Given the description of an element on the screen output the (x, y) to click on. 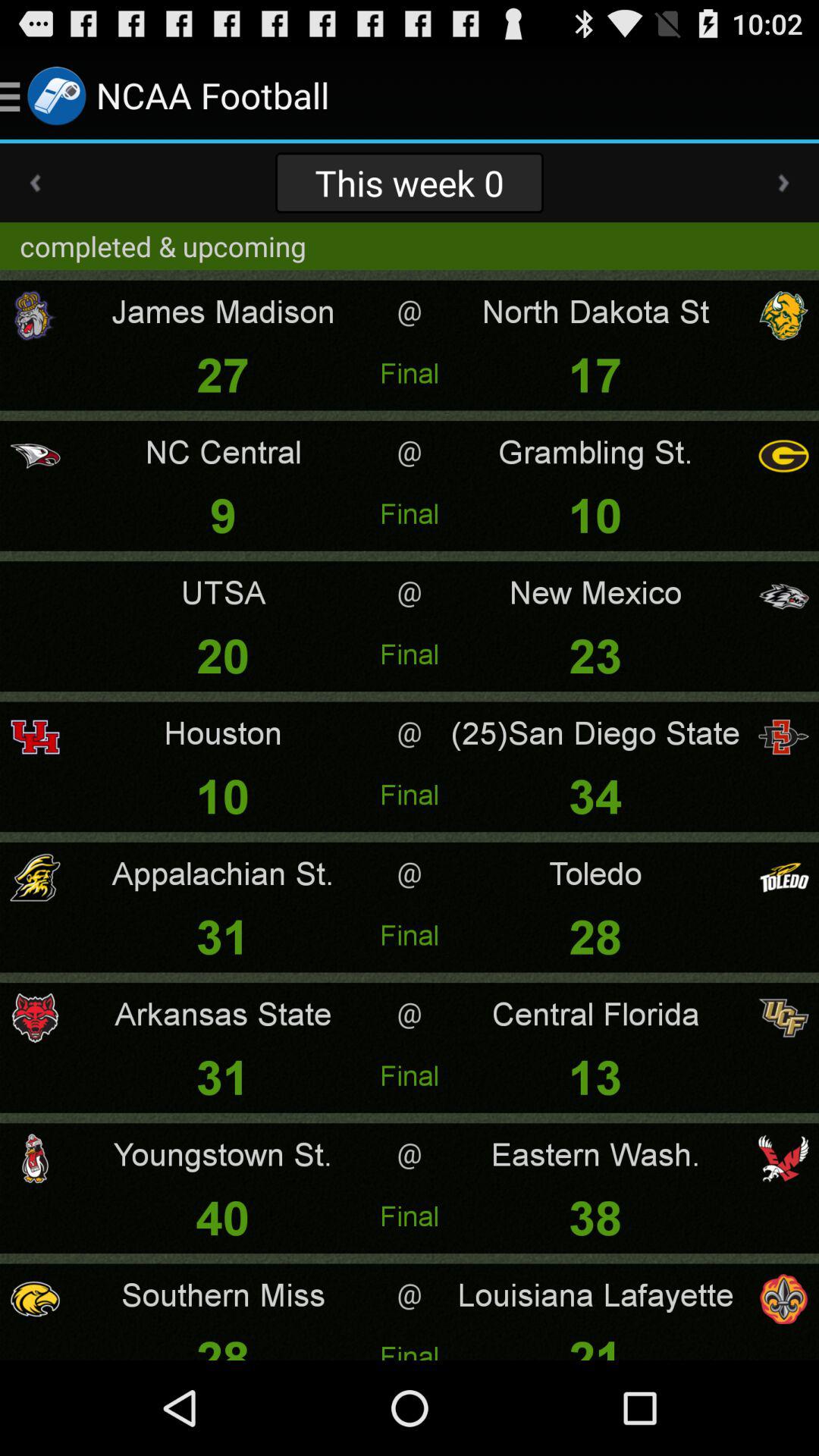
launch app above completed & upcoming app (35, 182)
